Given the description of an element on the screen output the (x, y) to click on. 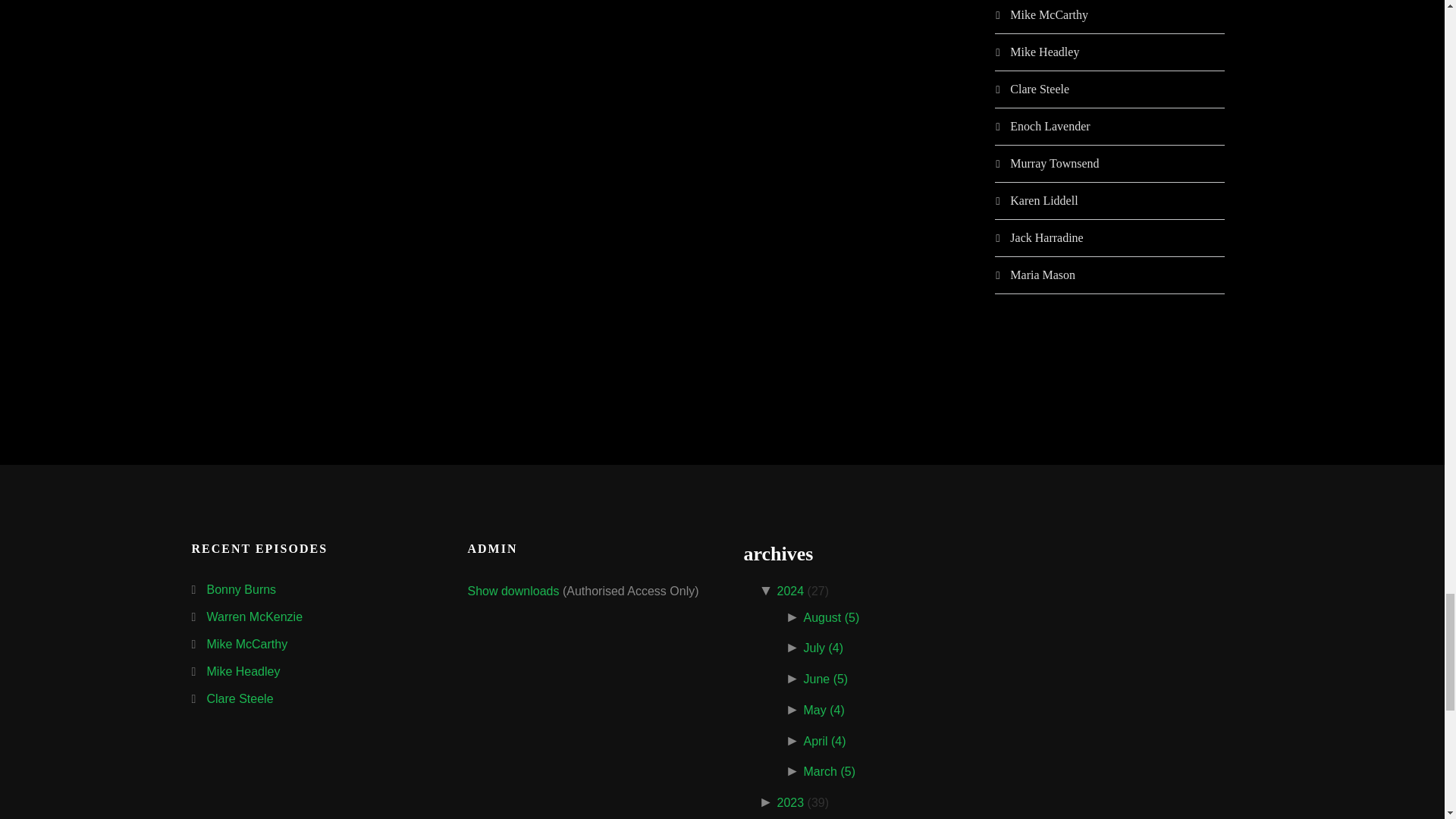
August (831, 617)
click to expand (794, 617)
click to collapse (767, 590)
